Given the description of an element on the screen output the (x, y) to click on. 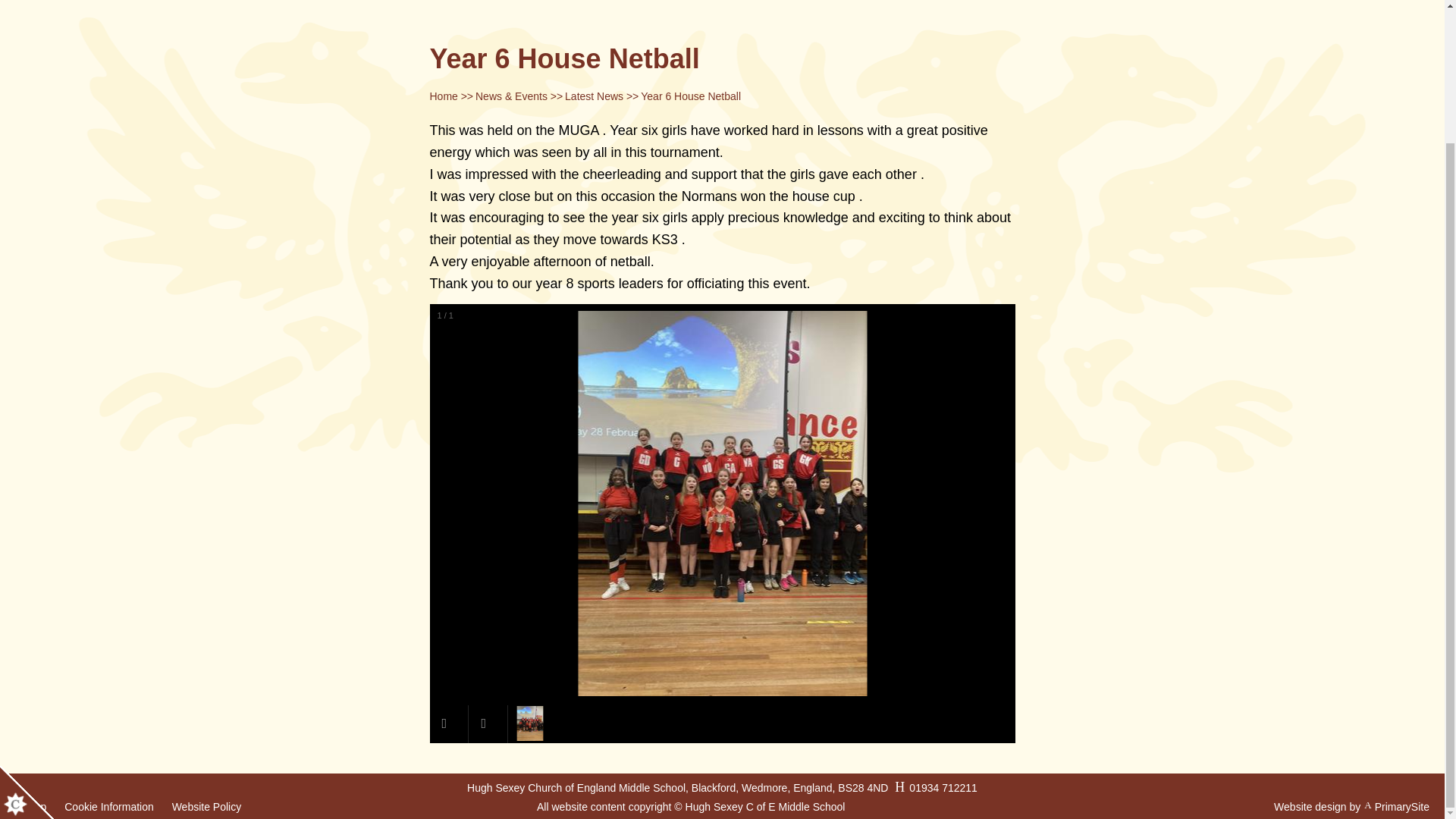
Phone (933, 625)
